Given the description of an element on the screen output the (x, y) to click on. 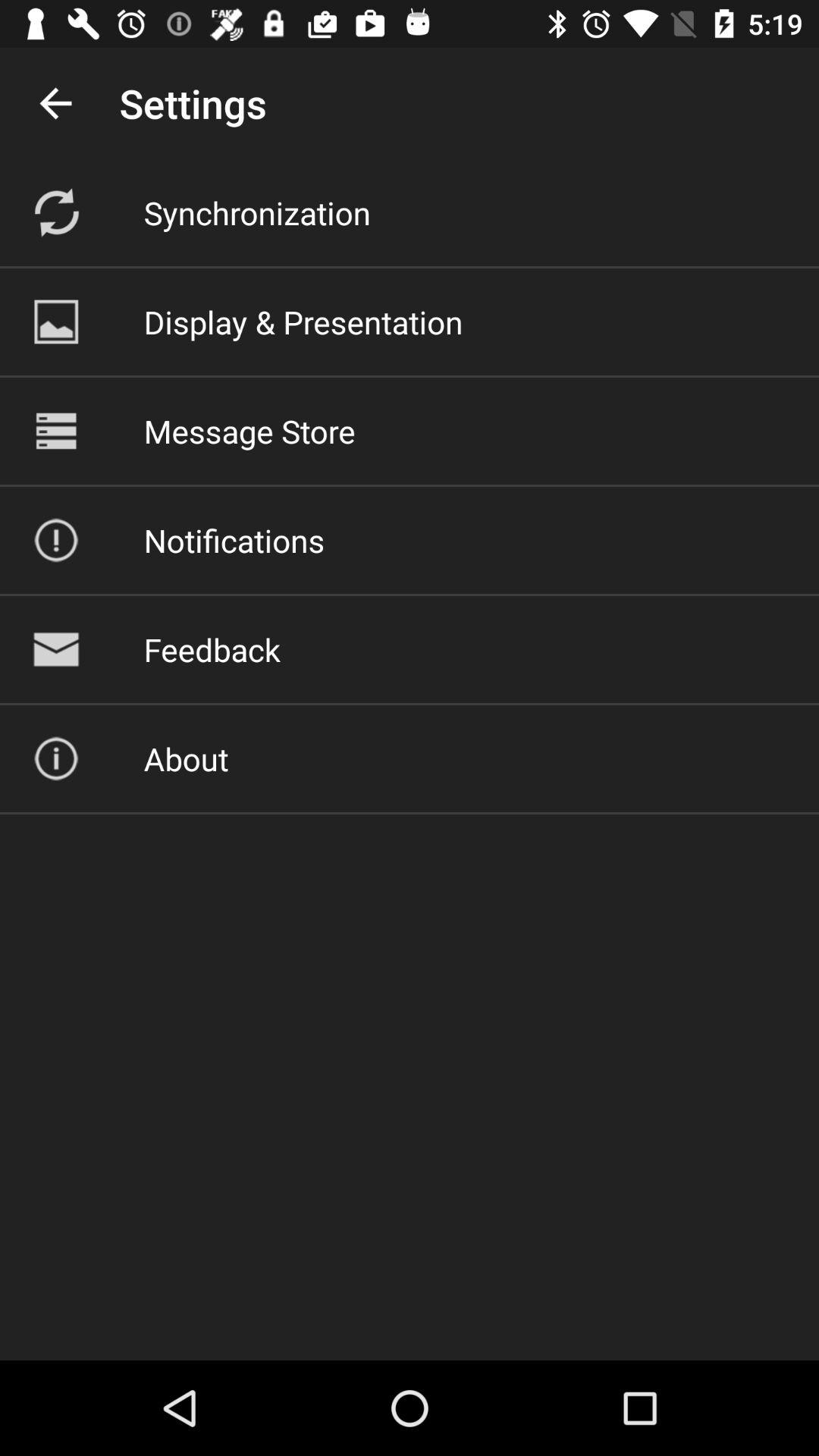
scroll until the feedback icon (211, 649)
